Given the description of an element on the screen output the (x, y) to click on. 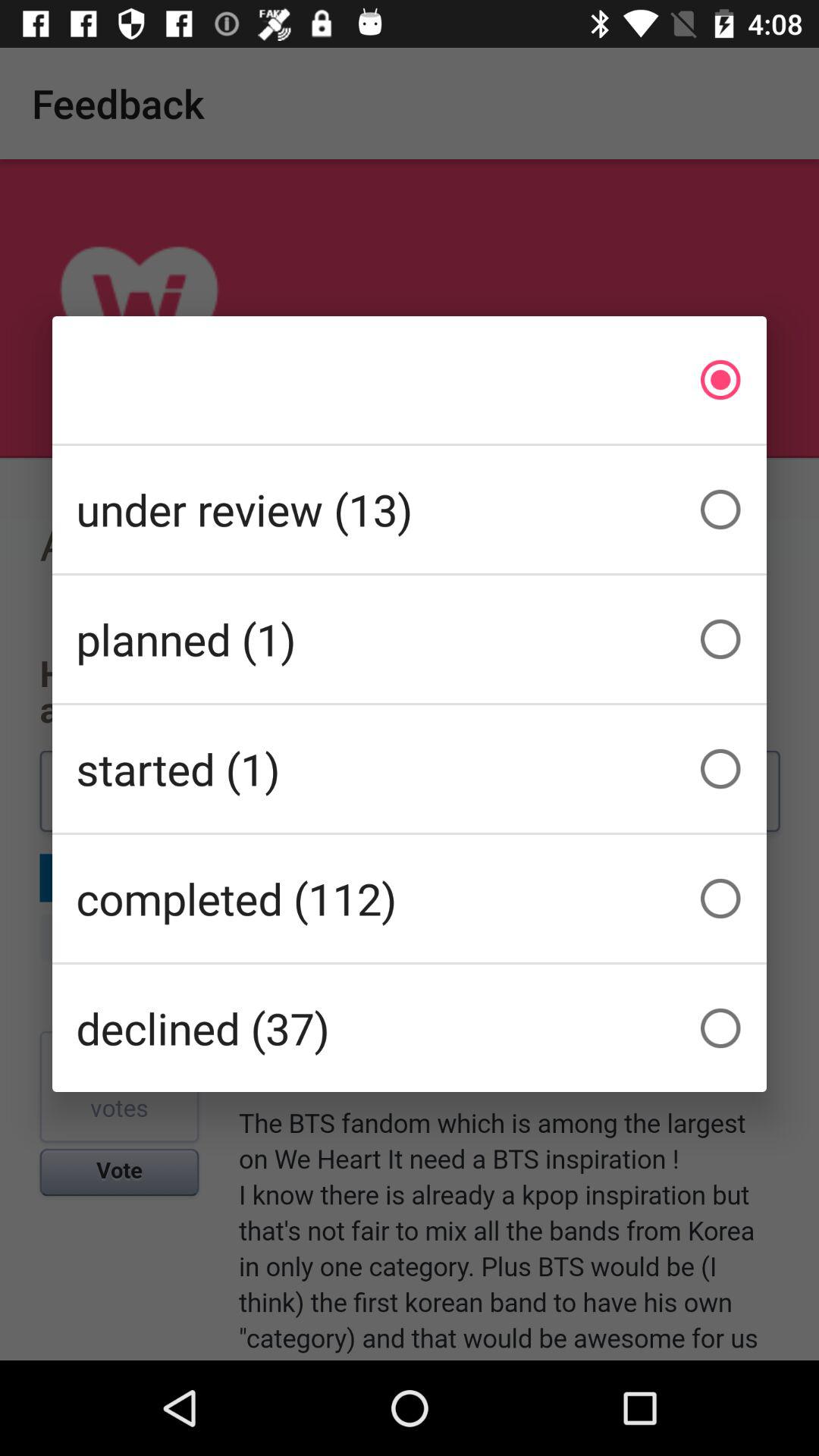
jump to the declined (37) item (409, 1028)
